Given the description of an element on the screen output the (x, y) to click on. 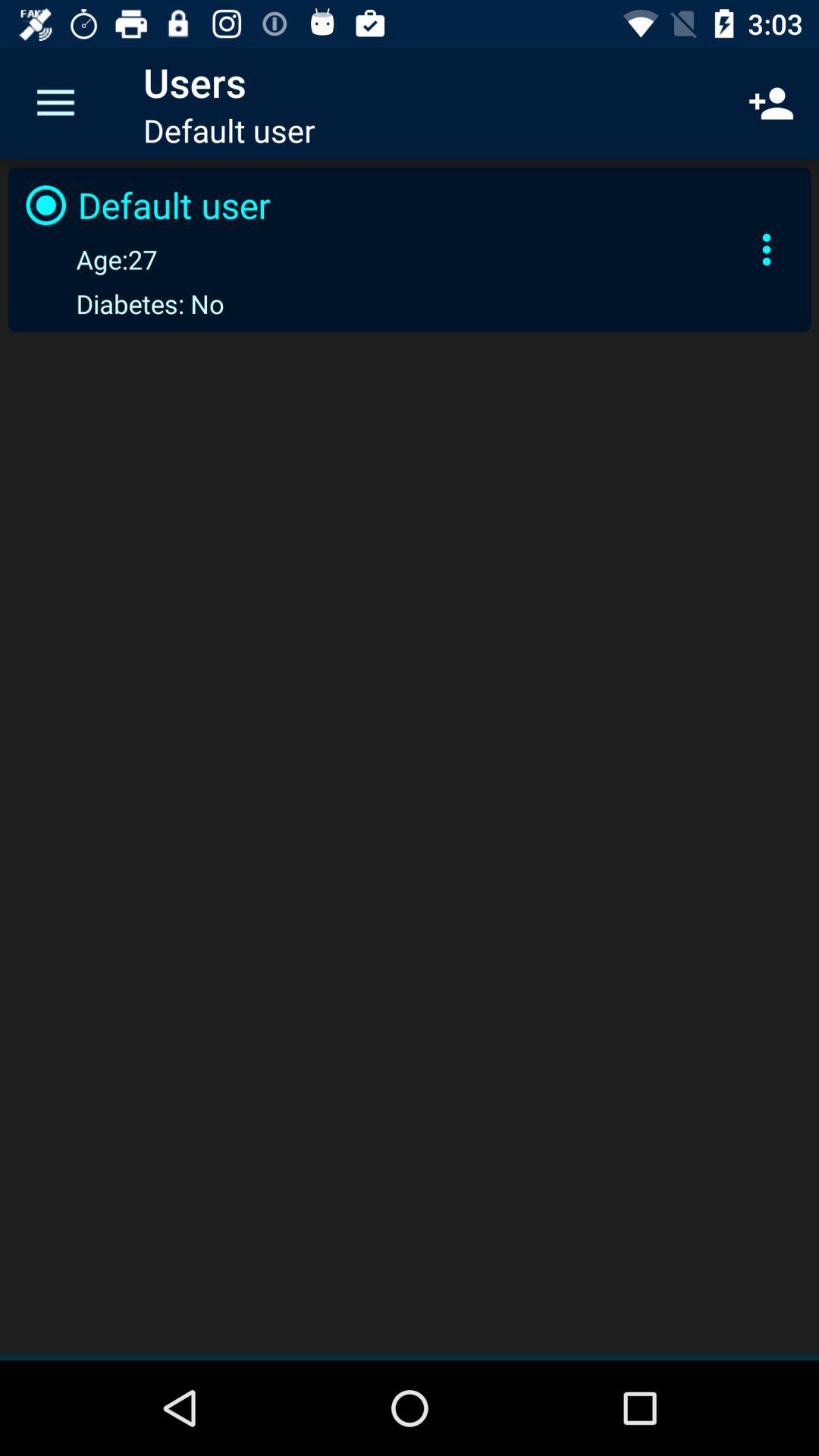
choose item to the left of users icon (55, 103)
